Given the description of an element on the screen output the (x, y) to click on. 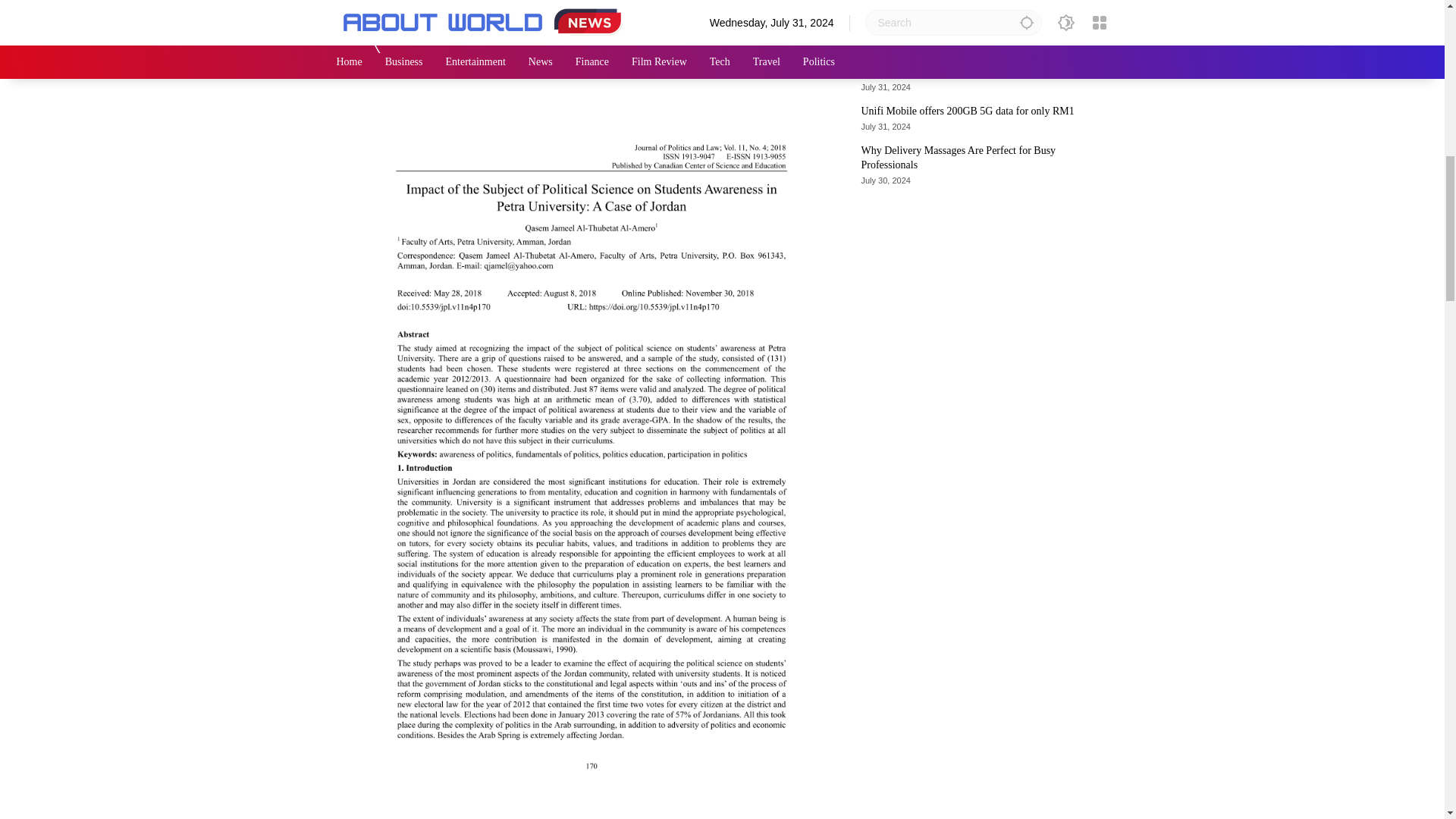
The Impact of Politics on Society (590, 46)
